Given the description of an element on the screen output the (x, y) to click on. 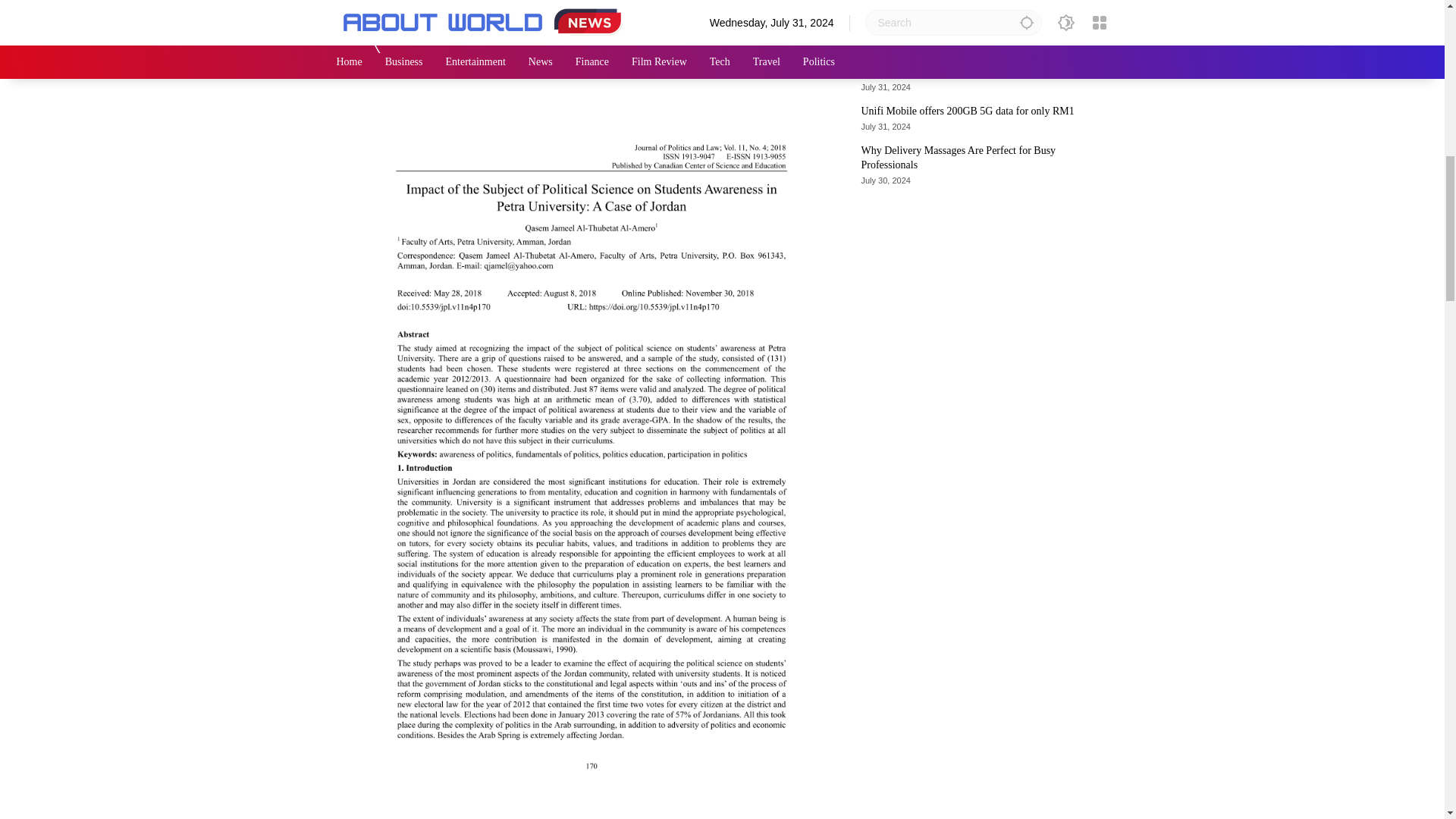
The Impact of Politics on Society (590, 46)
